Given the description of an element on the screen output the (x, y) to click on. 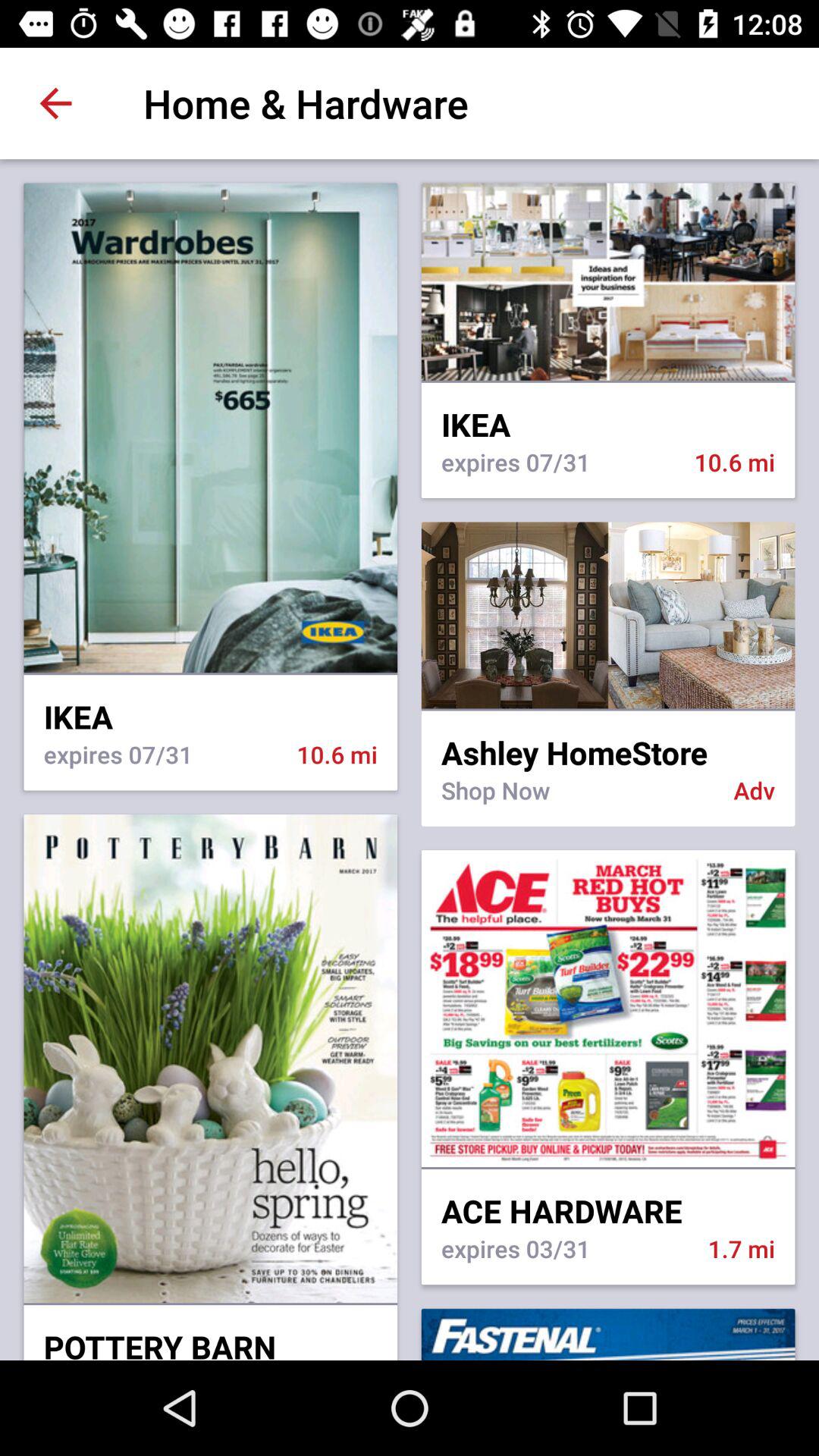
choose ashley homestore (608, 742)
